Given the description of an element on the screen output the (x, y) to click on. 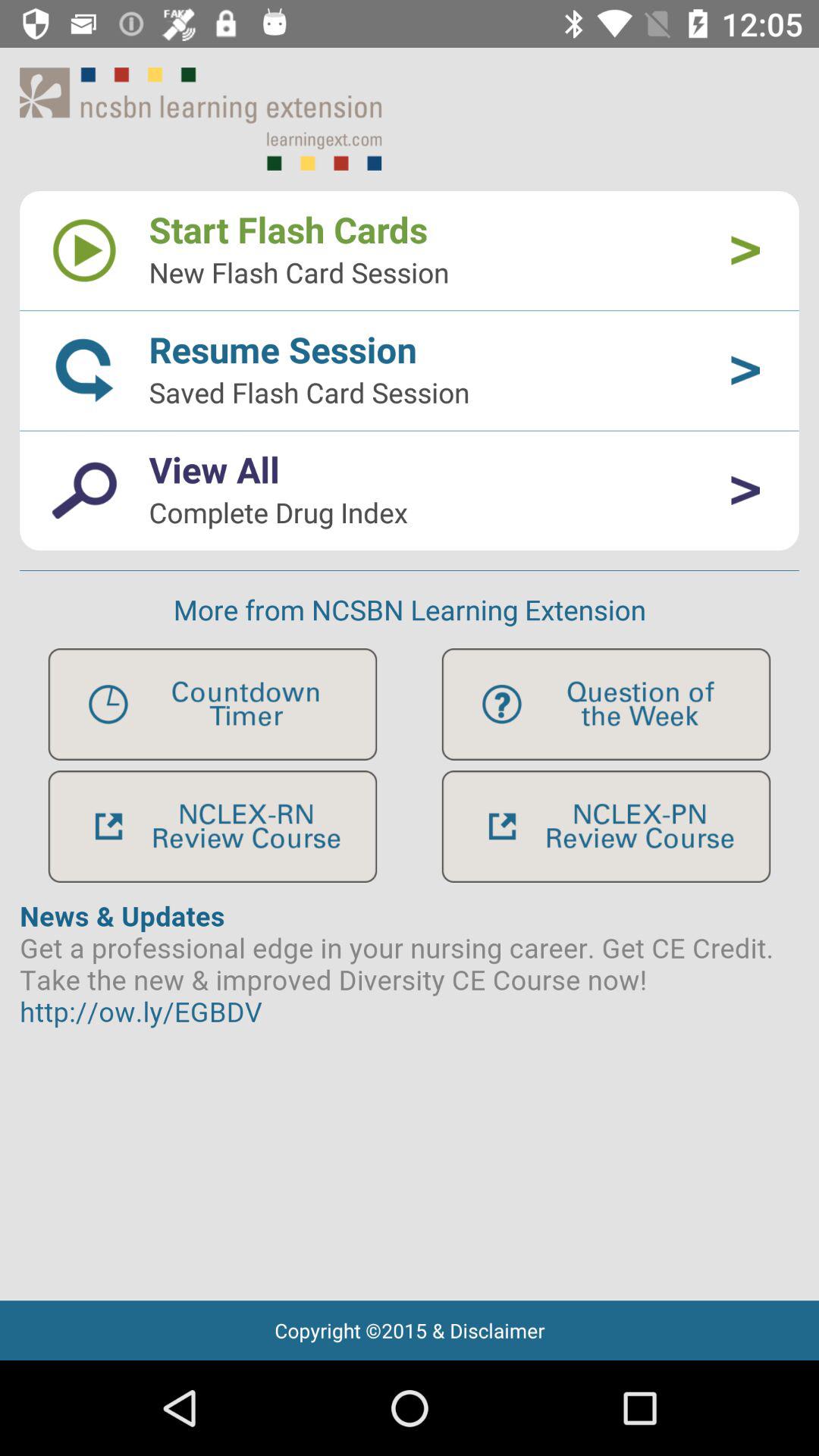
go to artical (409, 1091)
